Given the description of an element on the screen output the (x, y) to click on. 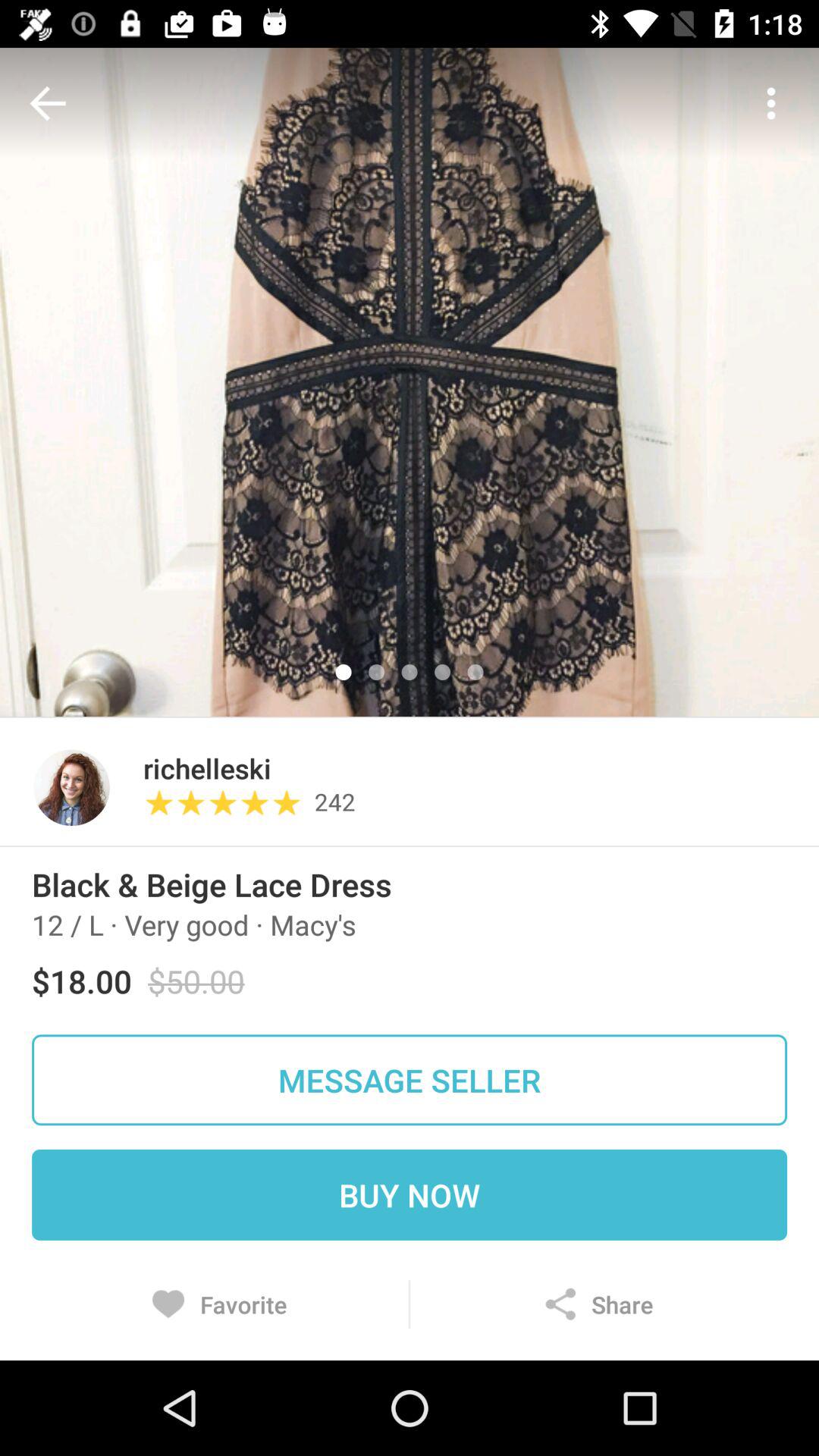
turn on the icon below the 242 icon (409, 845)
